Given the description of an element on the screen output the (x, y) to click on. 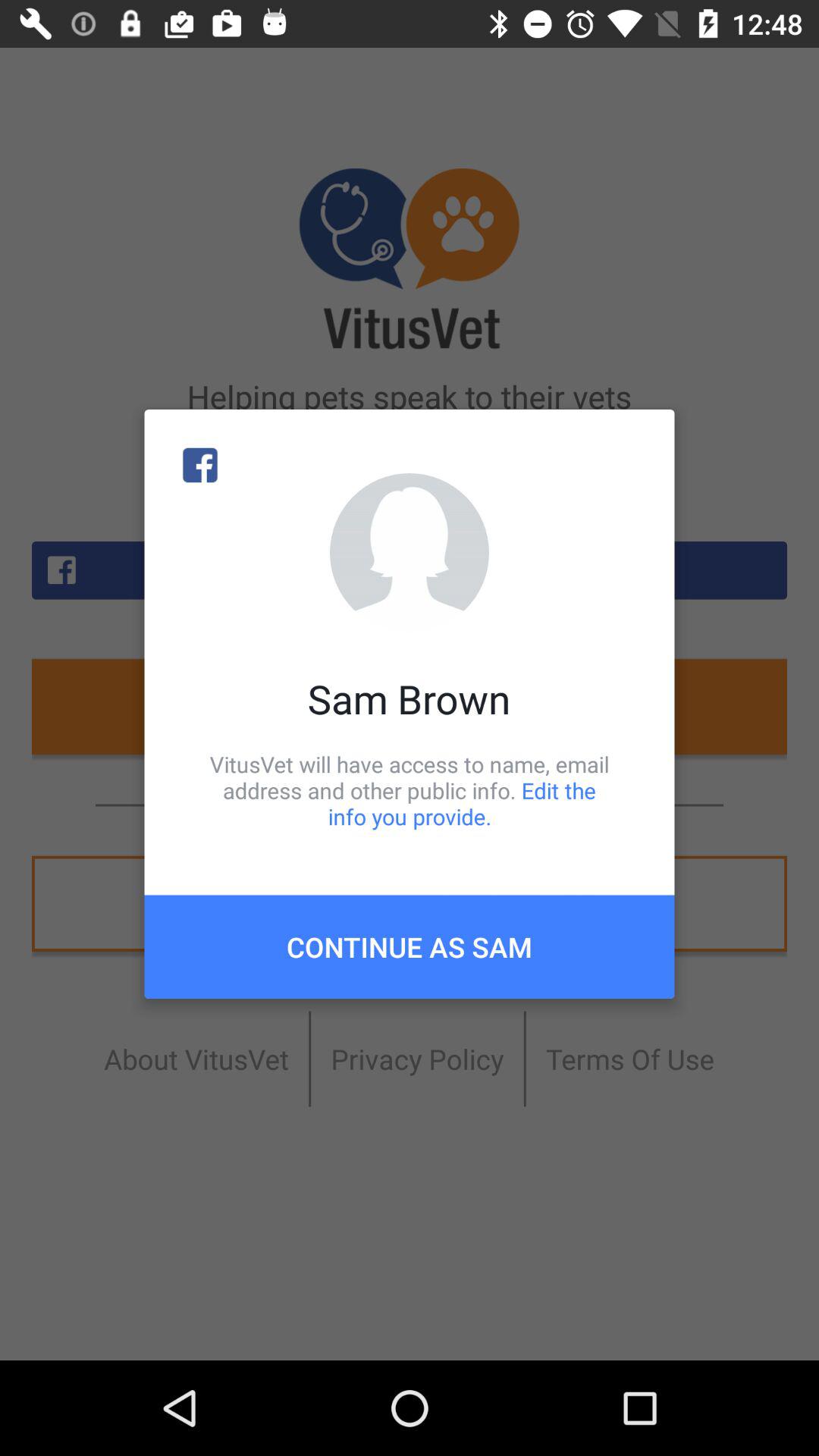
click vitusvet will have icon (409, 790)
